Given the description of an element on the screen output the (x, y) to click on. 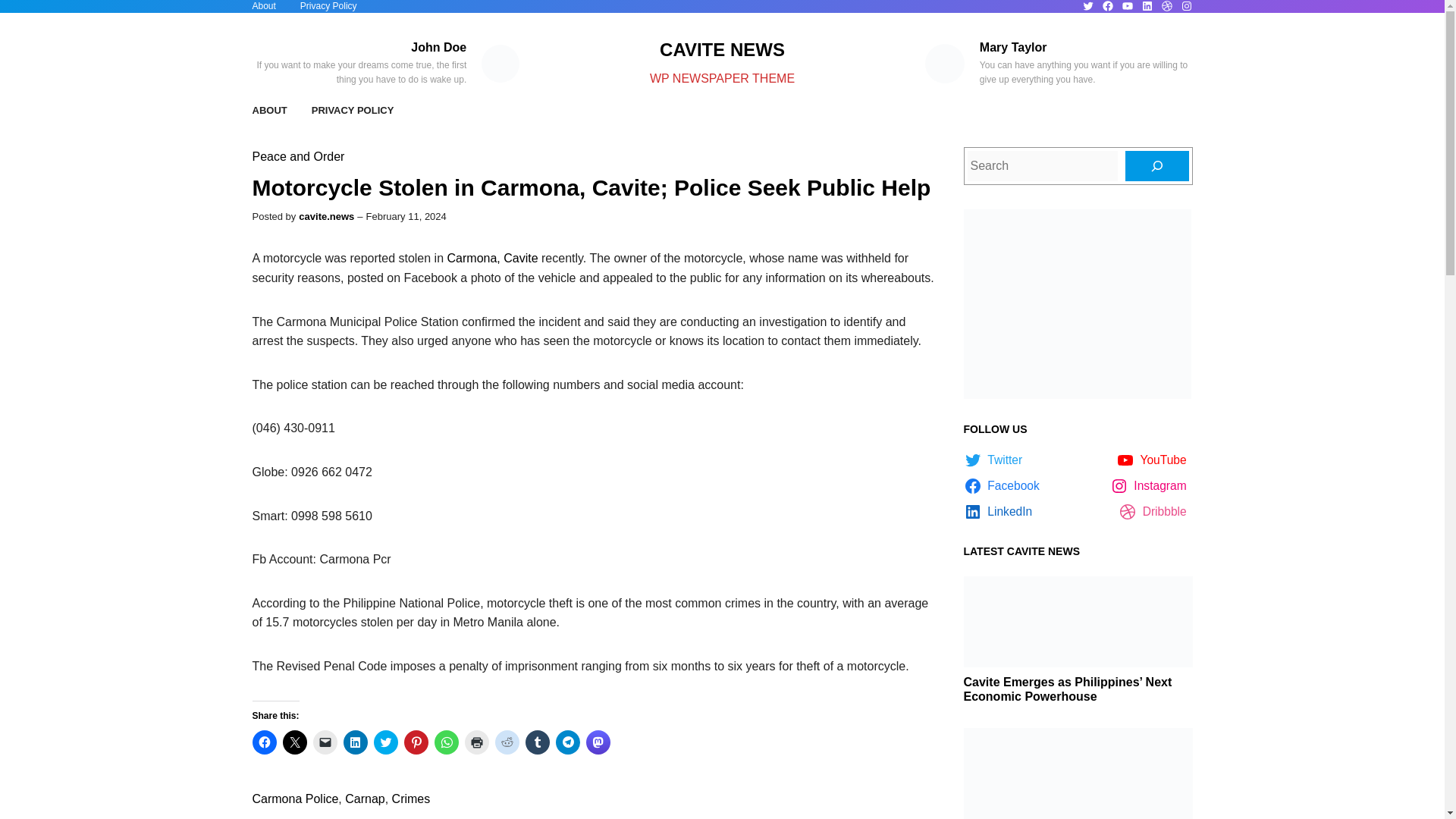
YouTube (1126, 6)
Click to email a link to a friend (324, 742)
CAVITE NEWS (721, 49)
Instagram (1185, 6)
Click to share on Pinterest (415, 742)
Twitter (1087, 6)
LinkedIn (1146, 6)
cavite.news (325, 215)
Click to share on LinkedIn (354, 742)
Click to share on X (293, 742)
Click to share on WhatsApp (445, 742)
Dribbble (1166, 6)
Click to print (475, 742)
Peace and Order (297, 155)
Privacy Policy (327, 6)
